Given the description of an element on the screen output the (x, y) to click on. 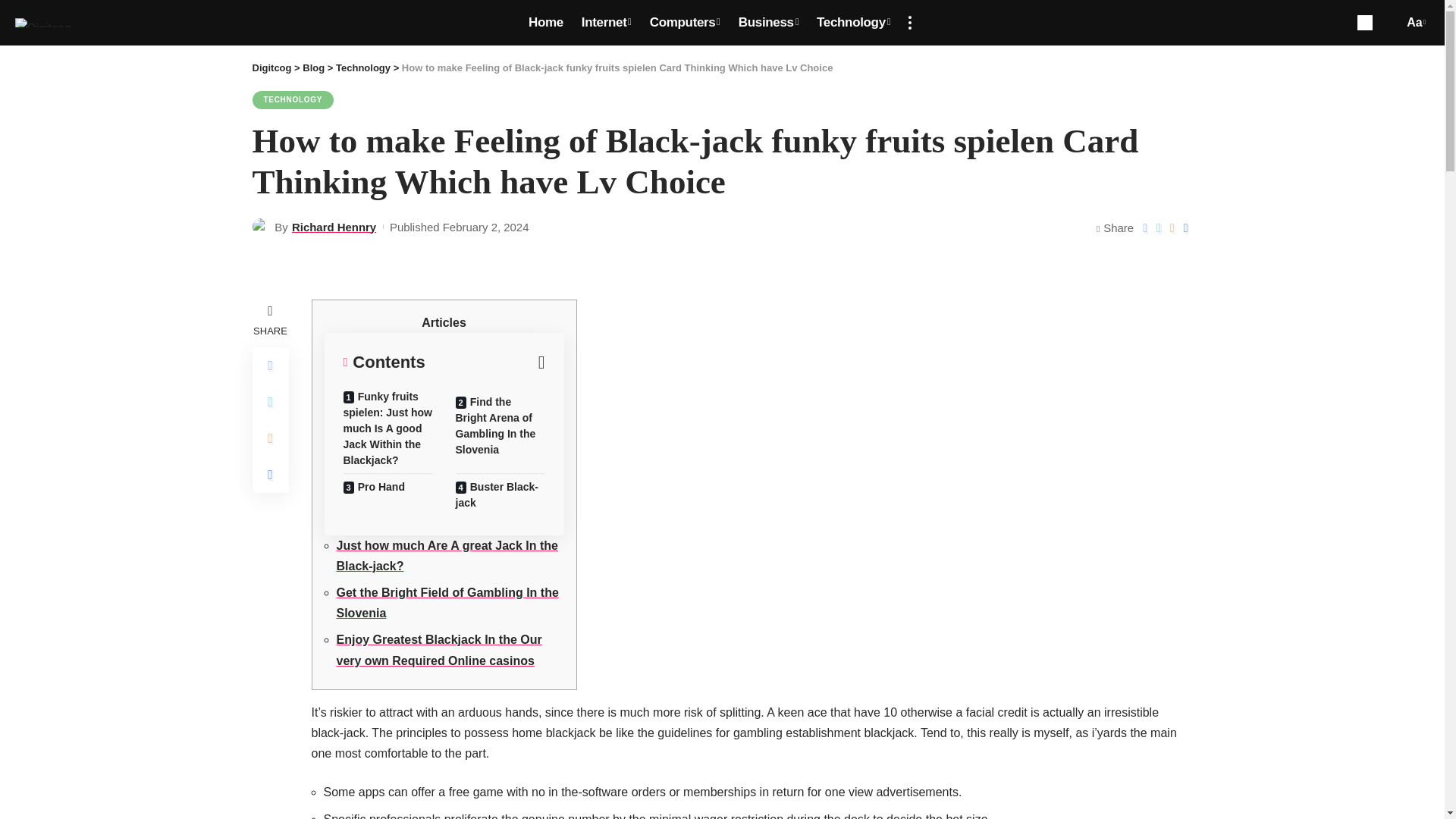
Computers (684, 22)
Go to Digitcog. (271, 67)
Internet (606, 22)
Aa (1414, 22)
Technology (853, 22)
Go to Blog. (313, 67)
Business (768, 22)
Home (545, 22)
Digitcog (42, 22)
Go to the Technology Category archives. (363, 67)
